Given the description of an element on the screen output the (x, y) to click on. 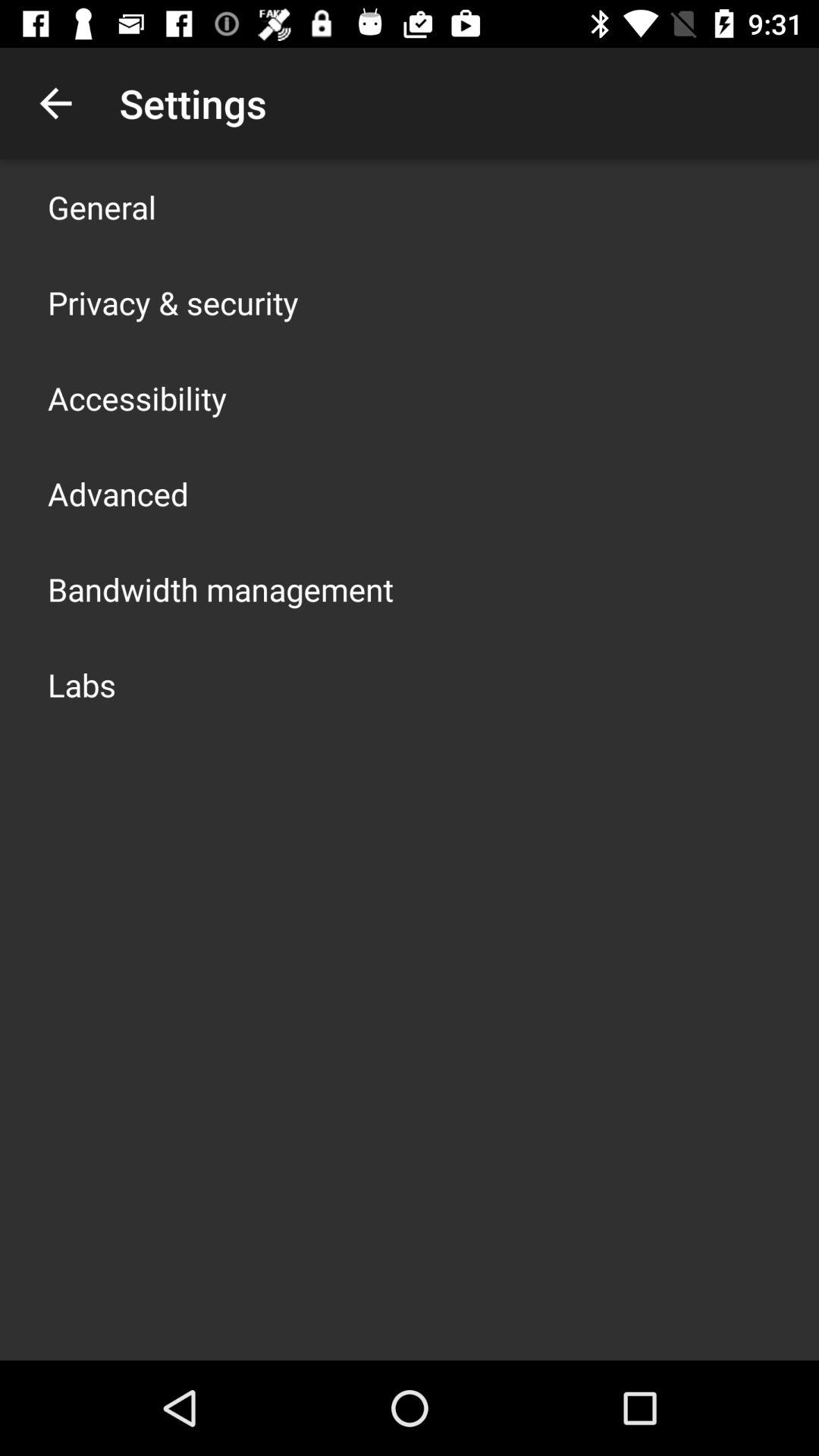
press app below privacy & security item (136, 397)
